Given the description of an element on the screen output the (x, y) to click on. 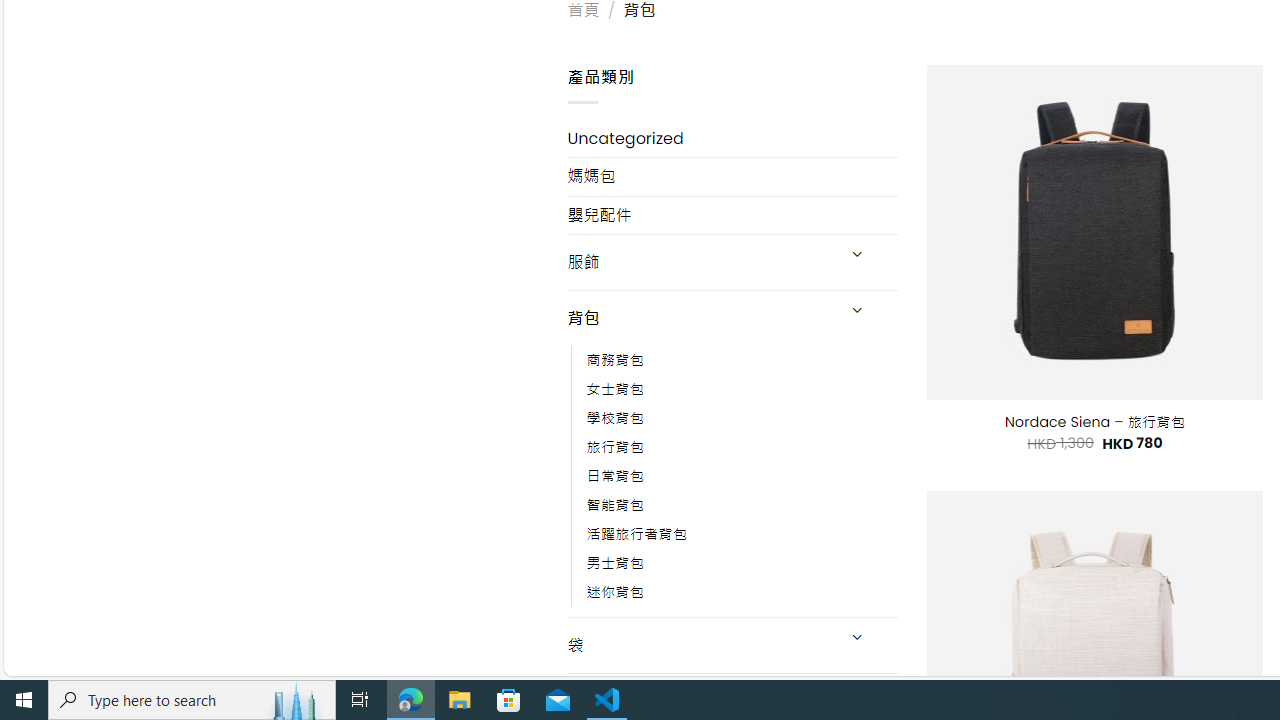
Uncategorized (732, 137)
